Given the description of an element on the screen output the (x, y) to click on. 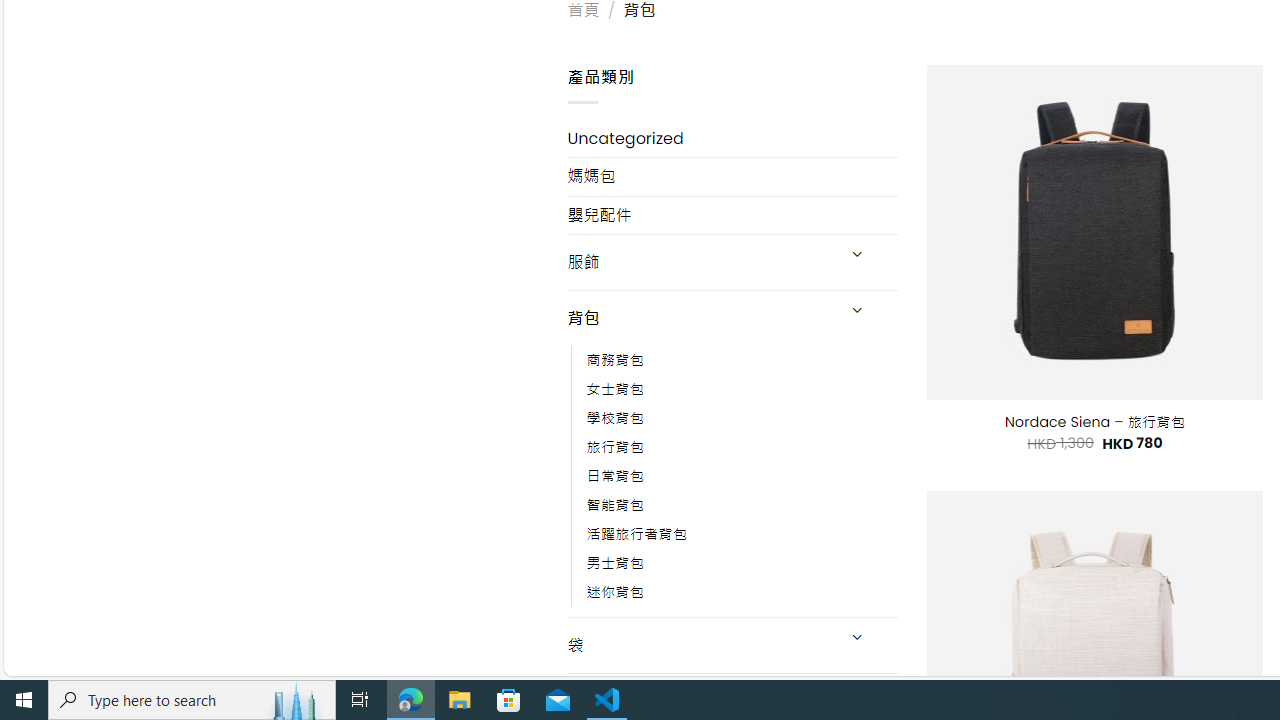
Uncategorized (732, 137)
